Given the description of an element on the screen output the (x, y) to click on. 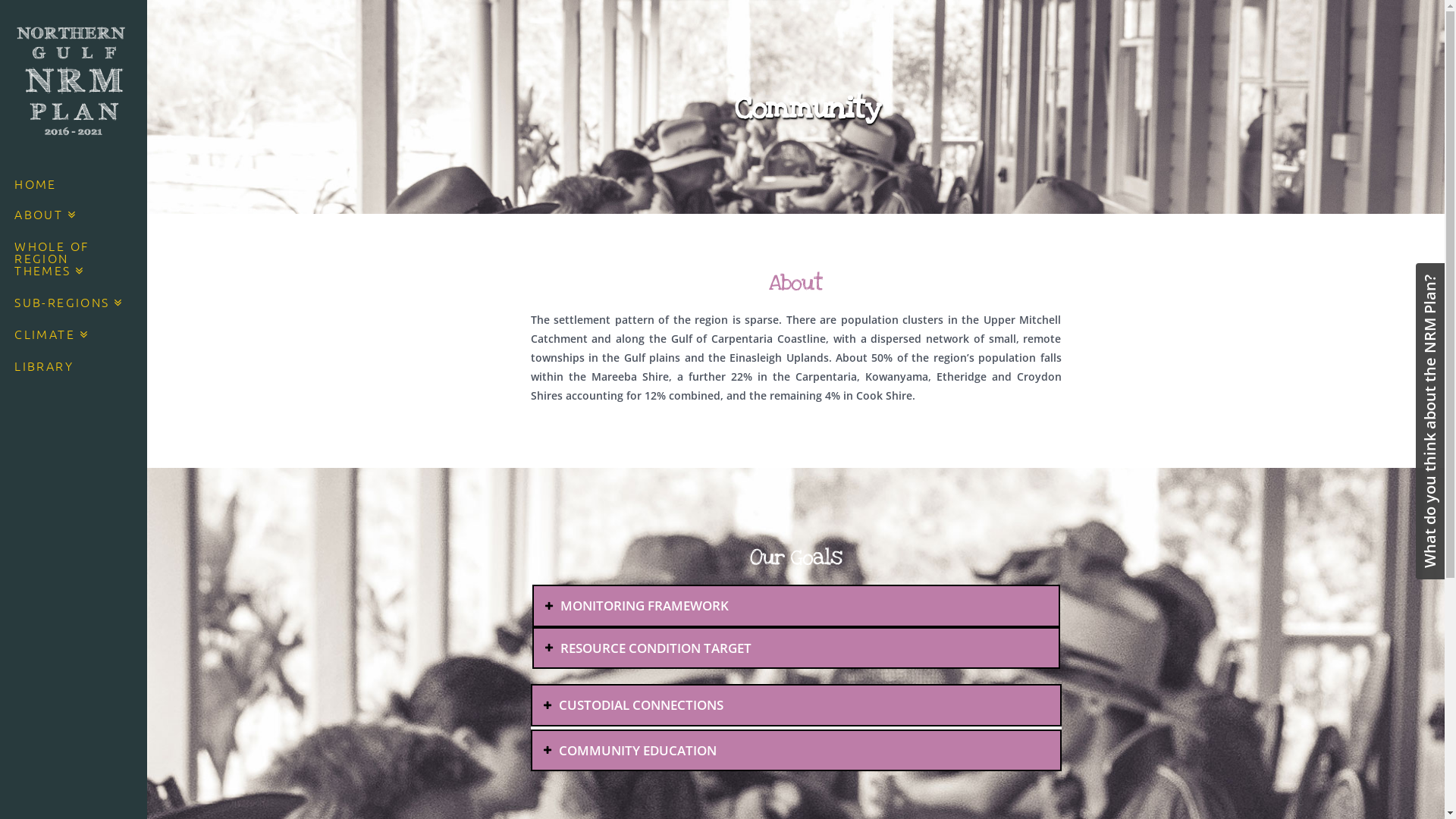
MONITORING FRAMEWORK Element type: text (795, 605)
SUB-REGIONS Element type: text (73, 304)
COMMUNITY EDUCATION Element type: text (796, 750)
CLIMATE Element type: text (73, 335)
LIBRARY Element type: text (73, 366)
CUSTODIAL CONNECTIONS Element type: text (796, 704)
WHOLE OF REGION THEMES Element type: text (73, 260)
ABOUT Element type: text (73, 216)
RESOURCE CONDITION TARGET Element type: text (795, 647)
HOME Element type: text (73, 184)
